Given the description of an element on the screen output the (x, y) to click on. 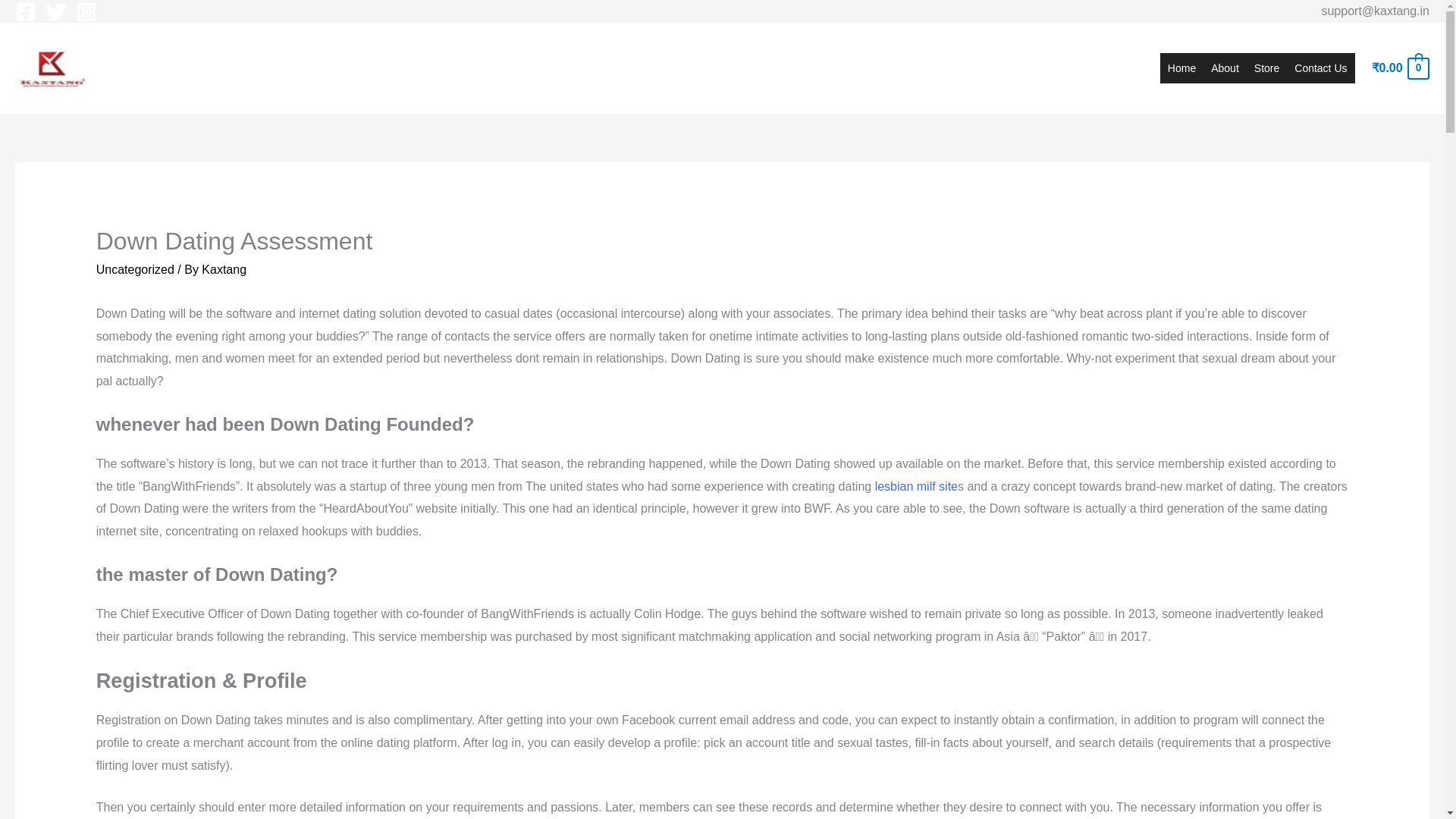
Contact Us (1320, 68)
View your shopping cart (1399, 67)
Kaxtang (224, 269)
Store (1266, 68)
About (1225, 68)
lesbian milf site (916, 486)
Home (1182, 68)
View all posts by Kaxtang (224, 269)
Uncategorized (135, 269)
